Given the description of an element on the screen output the (x, y) to click on. 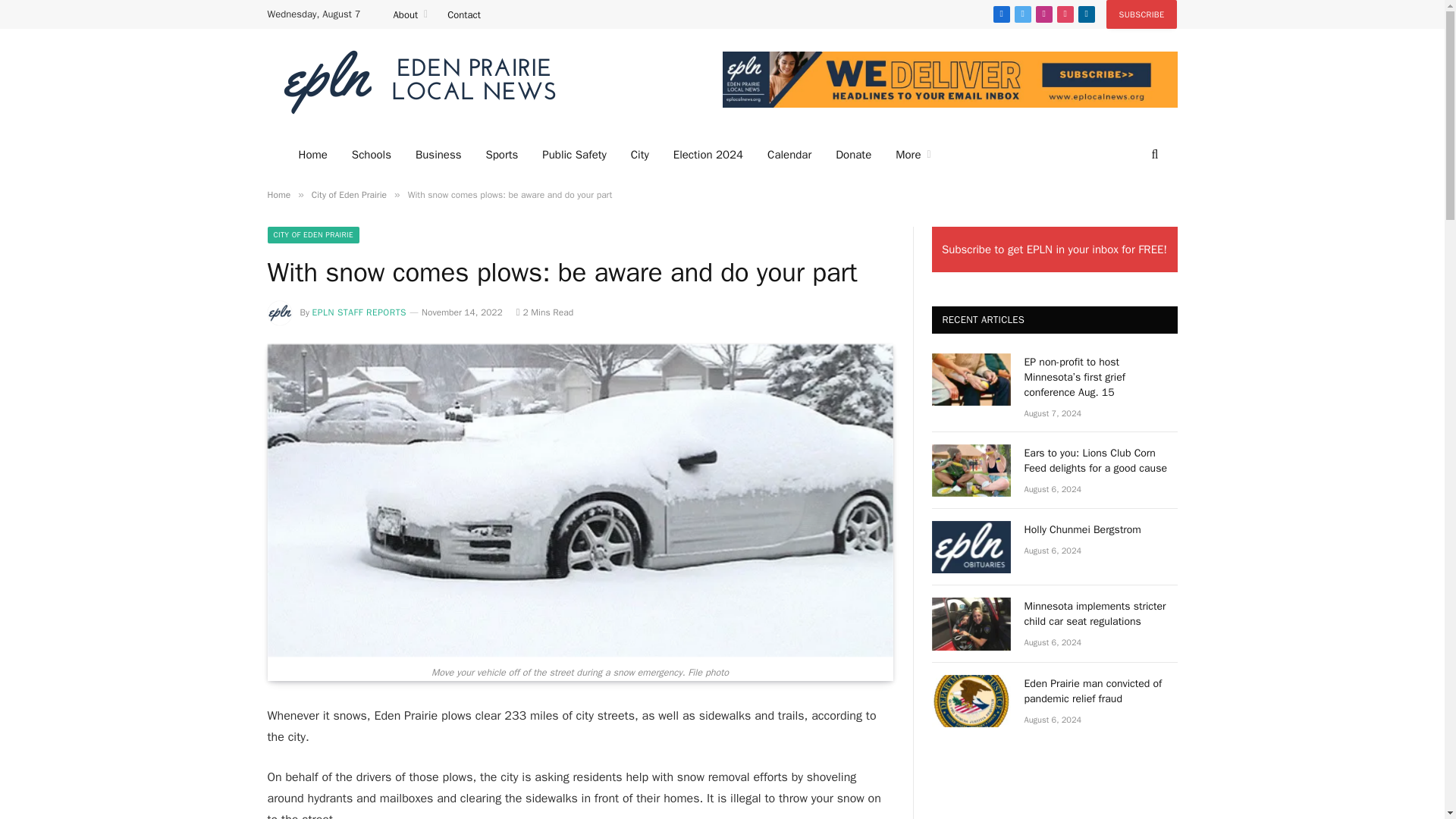
LinkedIn (1086, 13)
Business (438, 154)
Sports (501, 154)
Posts by EPLN Staff Reports (359, 312)
Contact (464, 14)
Public Safety (573, 154)
Calendar (789, 154)
About (411, 14)
SUBSCRIBE (1141, 14)
Facebook (1001, 13)
